Given the description of an element on the screen output the (x, y) to click on. 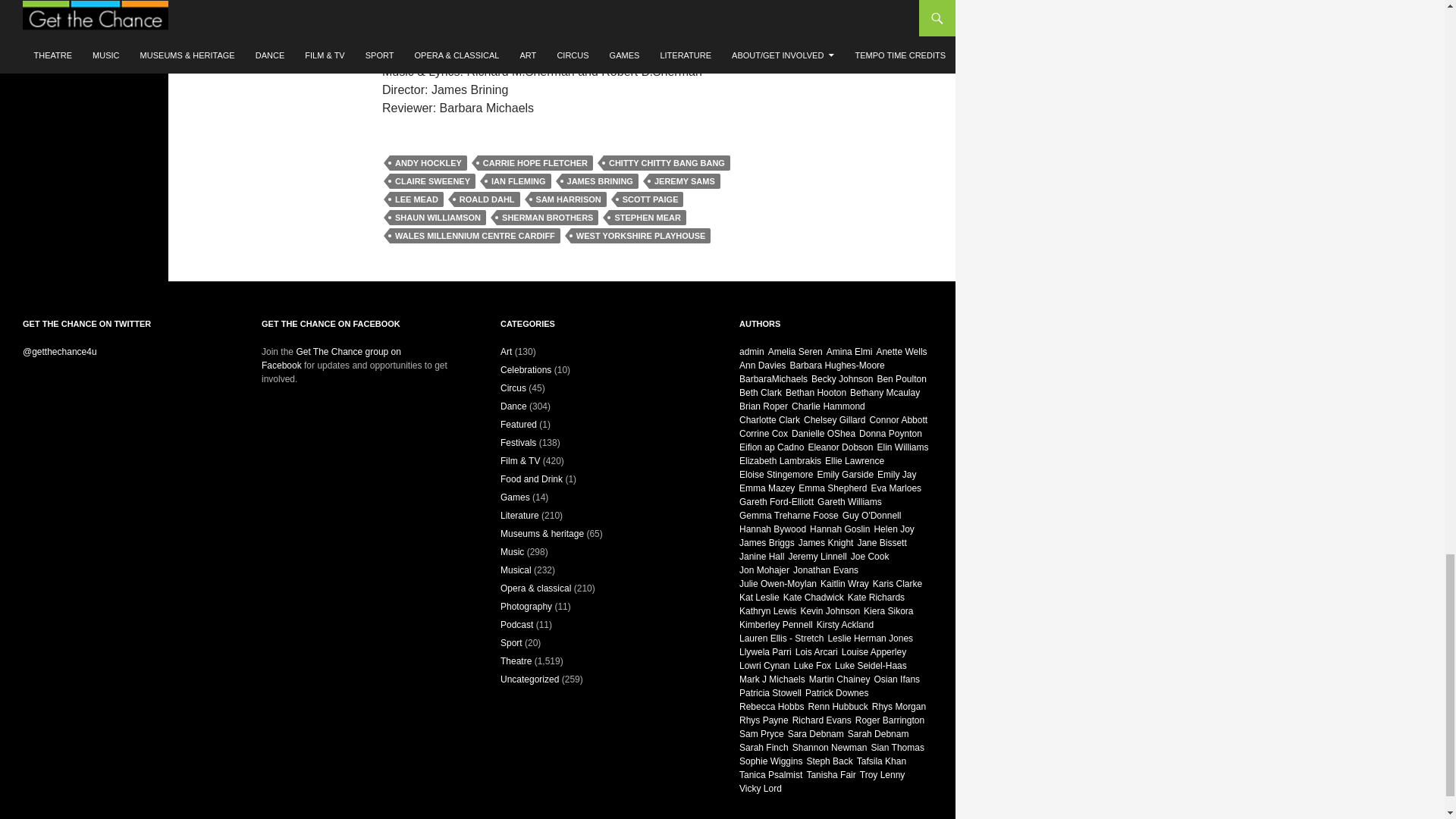
Posts by Bethany Mcaulay (885, 392)
SAM HARRISON (569, 199)
Posts by Anette Wells (901, 351)
Posts by Amelia Seren (795, 351)
Posts by Barbara Hughes-Moore (836, 365)
Posts by Brian Roper (763, 406)
CHITTY CHITTY BANG BANG (667, 162)
Posts by Becky Johnson (841, 378)
CLAIRE SWEENEY (433, 181)
Posts by Charlie Hammond (828, 406)
